Given the description of an element on the screen output the (x, y) to click on. 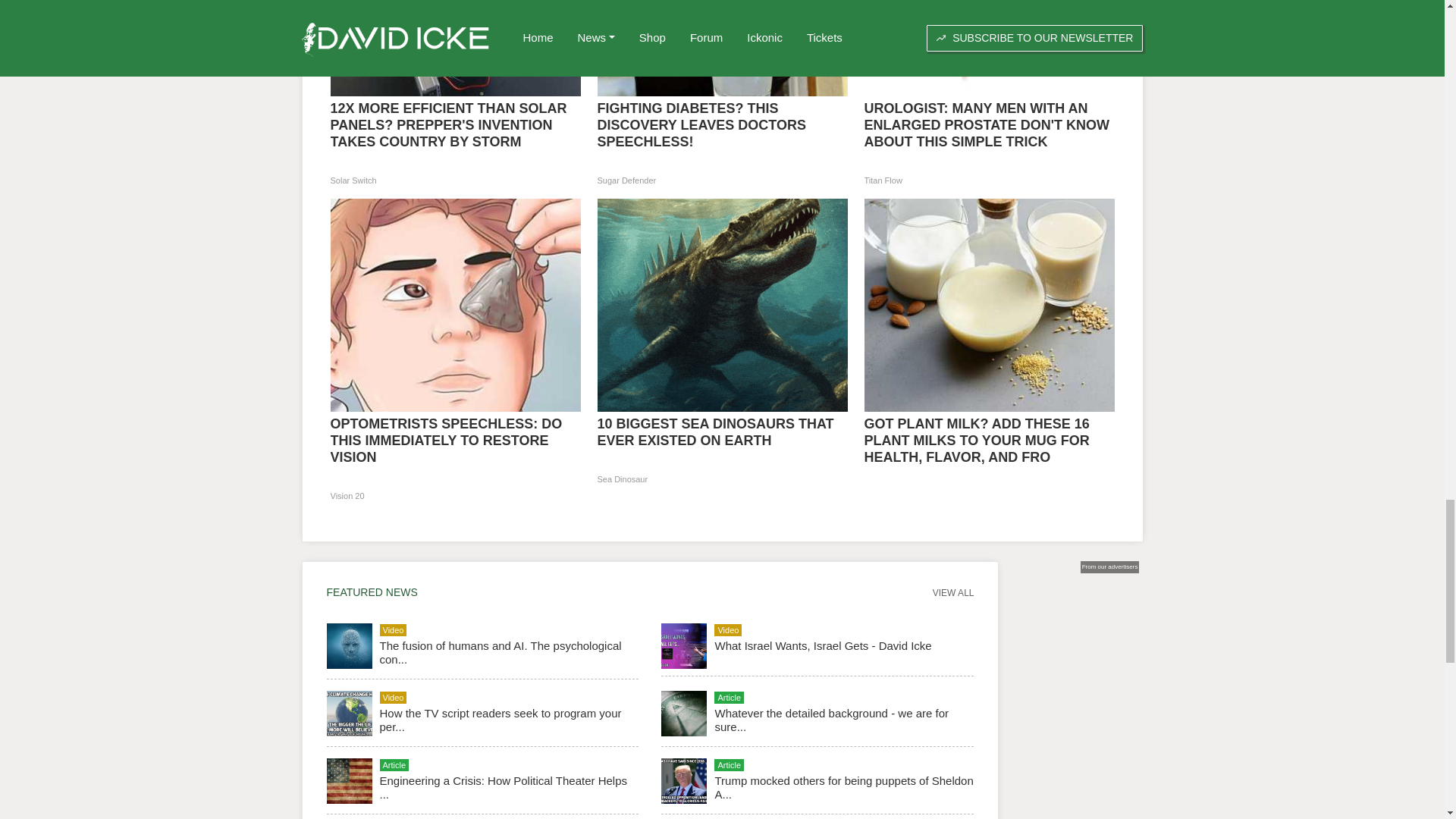
What Israel Wants, Israel Gets - David Icke (822, 645)
